Given the description of an element on the screen output the (x, y) to click on. 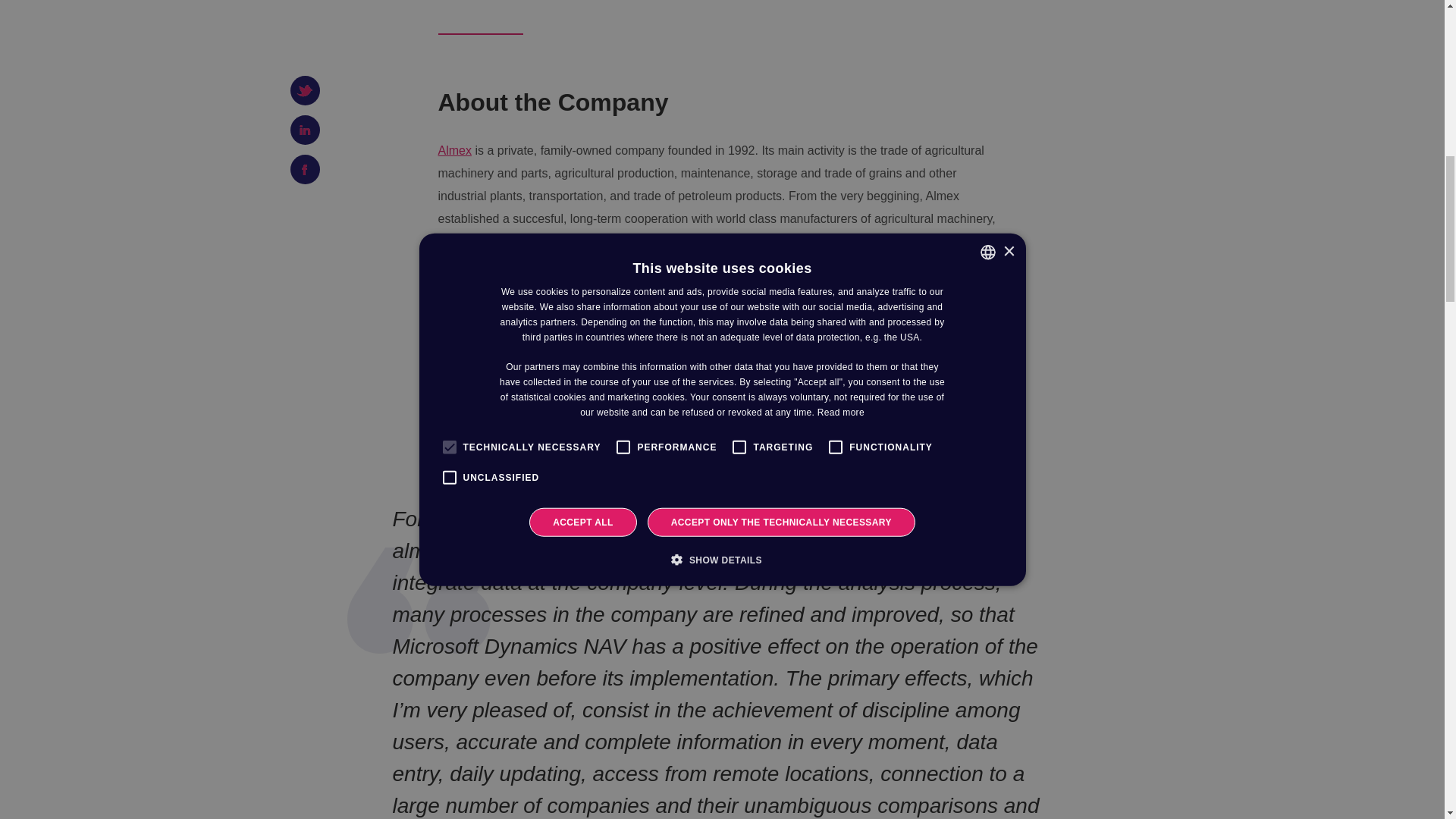
Almex d.o.o. Srbija (454, 150)
